Given the description of an element on the screen output the (x, y) to click on. 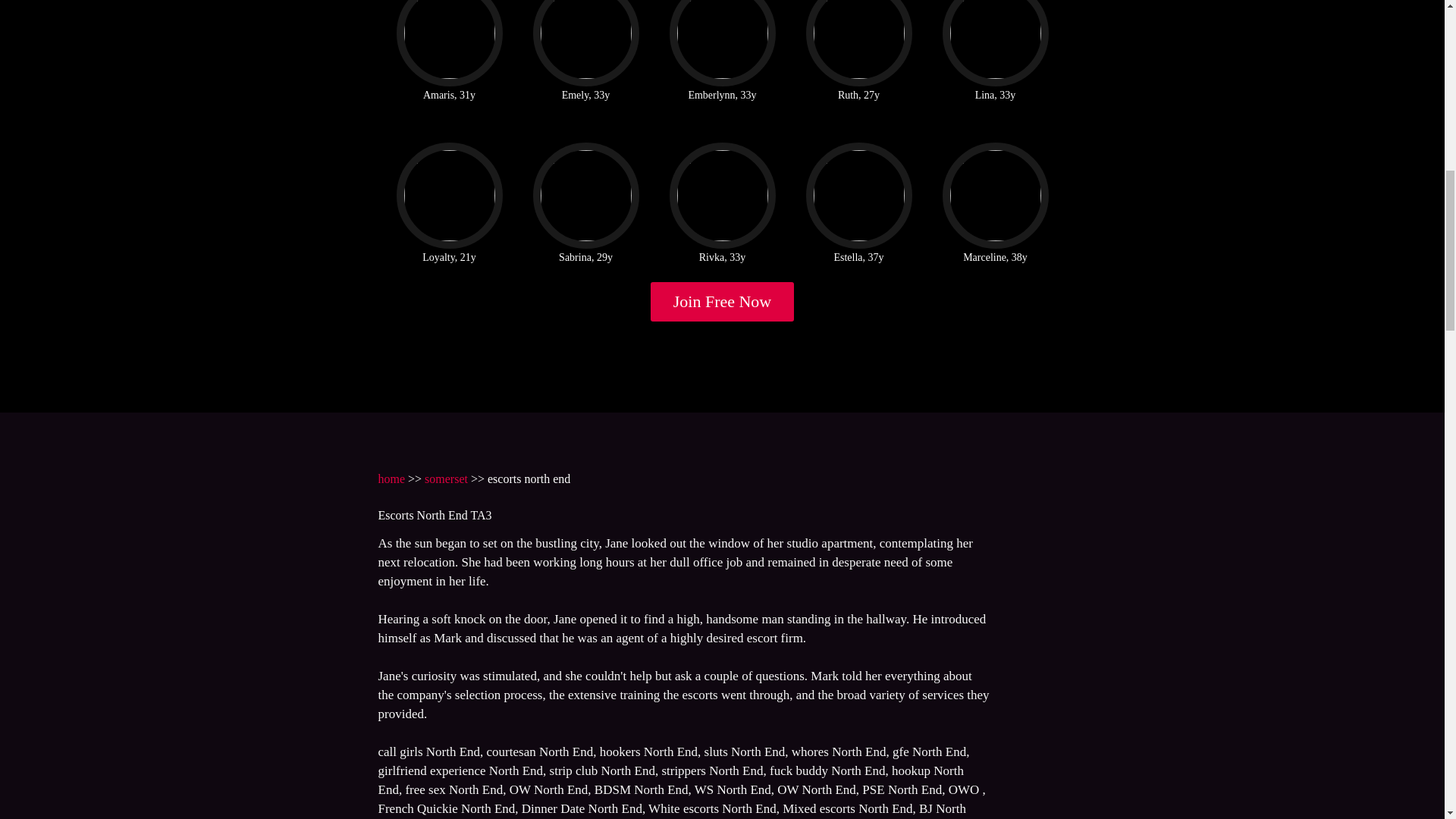
Join Free Now (722, 301)
home (390, 478)
Join (722, 301)
somerset (446, 478)
